Given the description of an element on the screen output the (x, y) to click on. 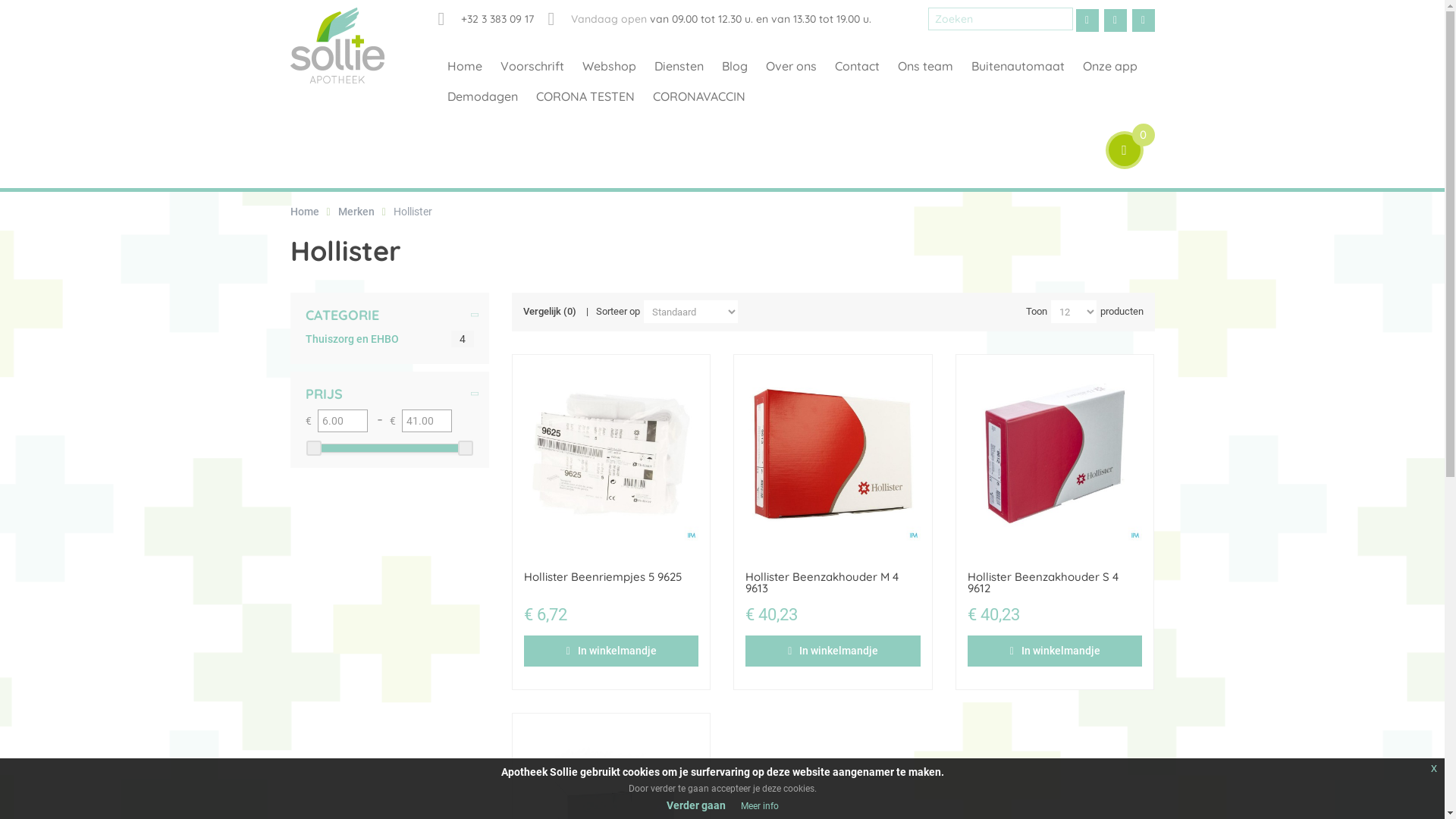
In winkelmandje Element type: text (1054, 650)
0 Element type: text (1124, 150)
Home Element type: text (464, 65)
Webshop Element type: text (609, 65)
CORONA TESTEN Element type: text (584, 96)
Verder gaan Element type: text (694, 805)
In winkelmandje Element type: text (832, 650)
Hollister Beenriempjes 5 9625 Element type: text (602, 576)
x Element type: text (1433, 768)
Over ons Element type: text (790, 65)
CORONAVACCIN Element type: text (698, 96)
Hollister Beenzakhouder M 4 9613 Element type: text (821, 582)
https://www.facebook.com/ApotheekSollie Element type: text (1115, 20)
Meer info Element type: text (759, 805)
In winkelmandje Element type: text (611, 650)
Diensten Element type: text (678, 65)
Voorschrift Element type: text (532, 65)
info@apotheeksollie.be Element type: text (1142, 20)
Onze app Element type: text (1109, 65)
Ons team Element type: text (925, 65)
+32 3 383 09 17 Element type: text (485, 18)
Demodagen Element type: text (482, 96)
Zoeken Element type: text (1060, 18)
Vergelijk (0) Element type: text (549, 311)
Thuiszorg en EHBO Element type: text (351, 338)
Blog Element type: text (734, 65)
Home Element type: text (303, 211)
Merken Element type: text (356, 211)
Hollister Beenzakhouder S 4 9612 Element type: text (1042, 582)
Buitenautomaat Element type: text (1017, 65)
Contact Element type: text (856, 65)
